Given the description of an element on the screen output the (x, y) to click on. 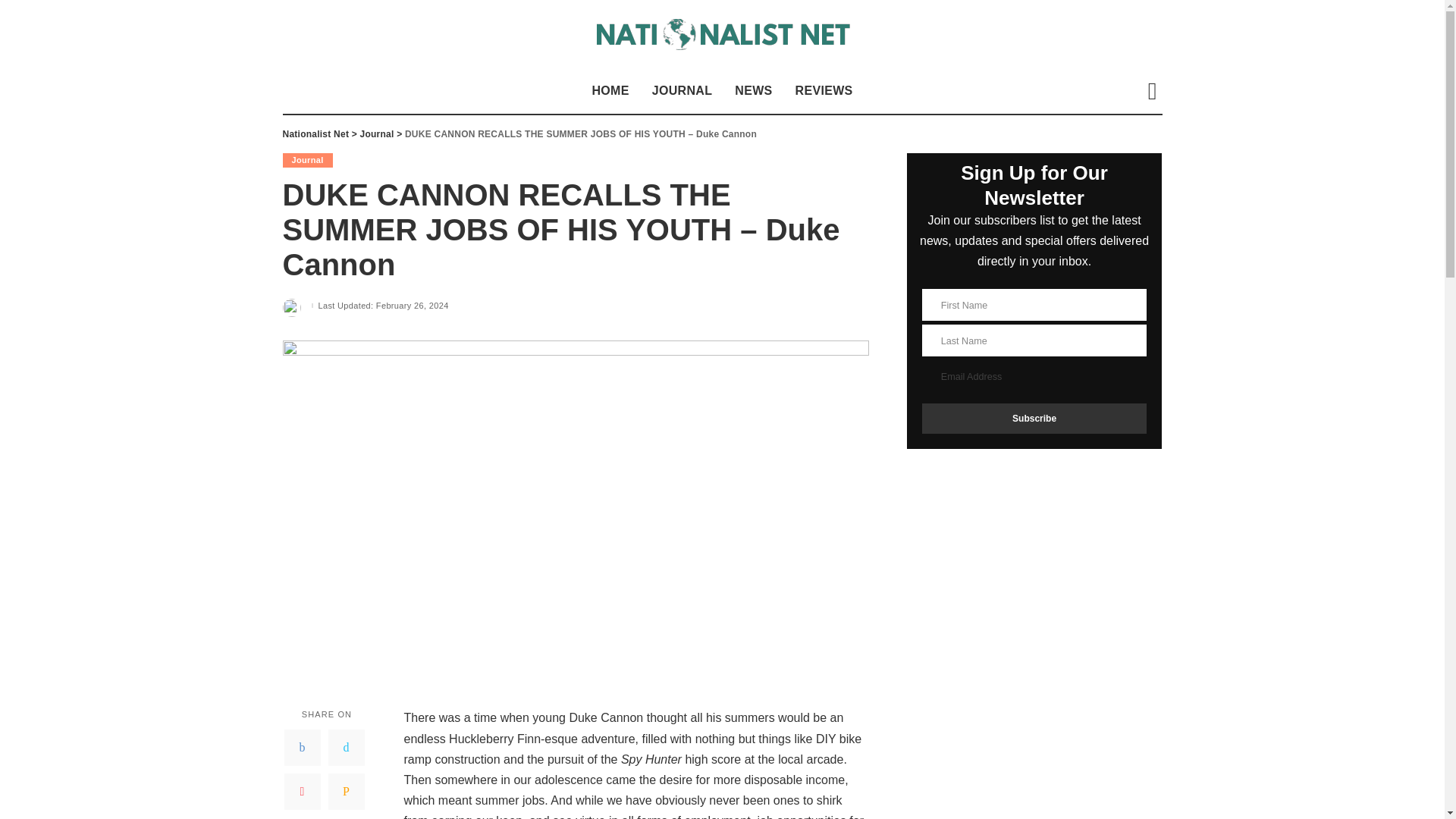
Go to Nationalist Net. (315, 133)
HOME (609, 90)
Email (345, 791)
Pinterest (301, 791)
Journal (376, 133)
Journal (306, 160)
JOURNAL (681, 90)
Nationalist Net (722, 33)
Go to the Journal Category archives. (376, 133)
NEWS (753, 90)
